Given the description of an element on the screen output the (x, y) to click on. 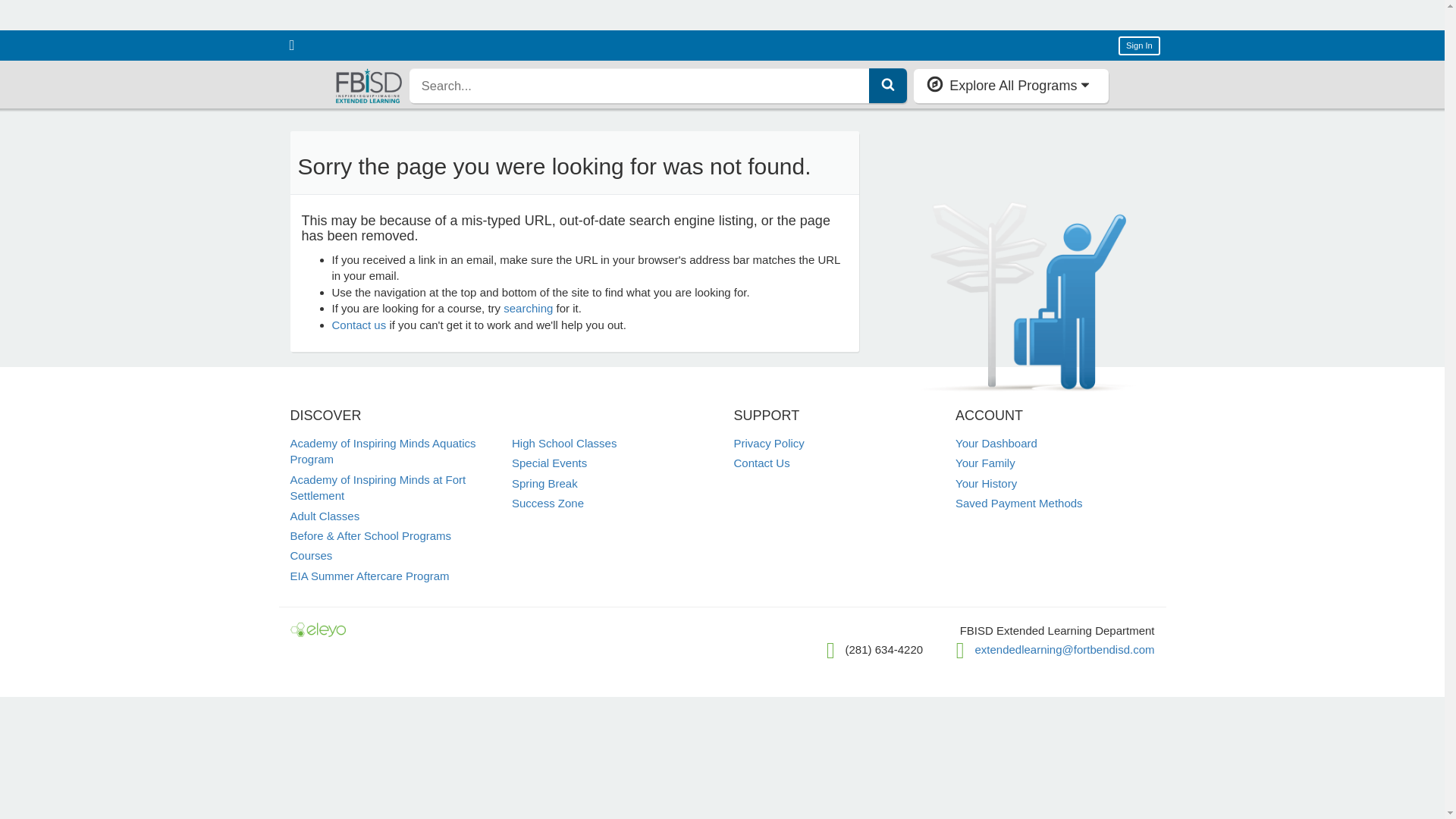
 Compass Icon (934, 84)
 Caret Down Icon (1085, 84)
 Search Icon (887, 83)
Sign In (1139, 45)
Explore All Programs (1011, 85)
